Given the description of an element on the screen output the (x, y) to click on. 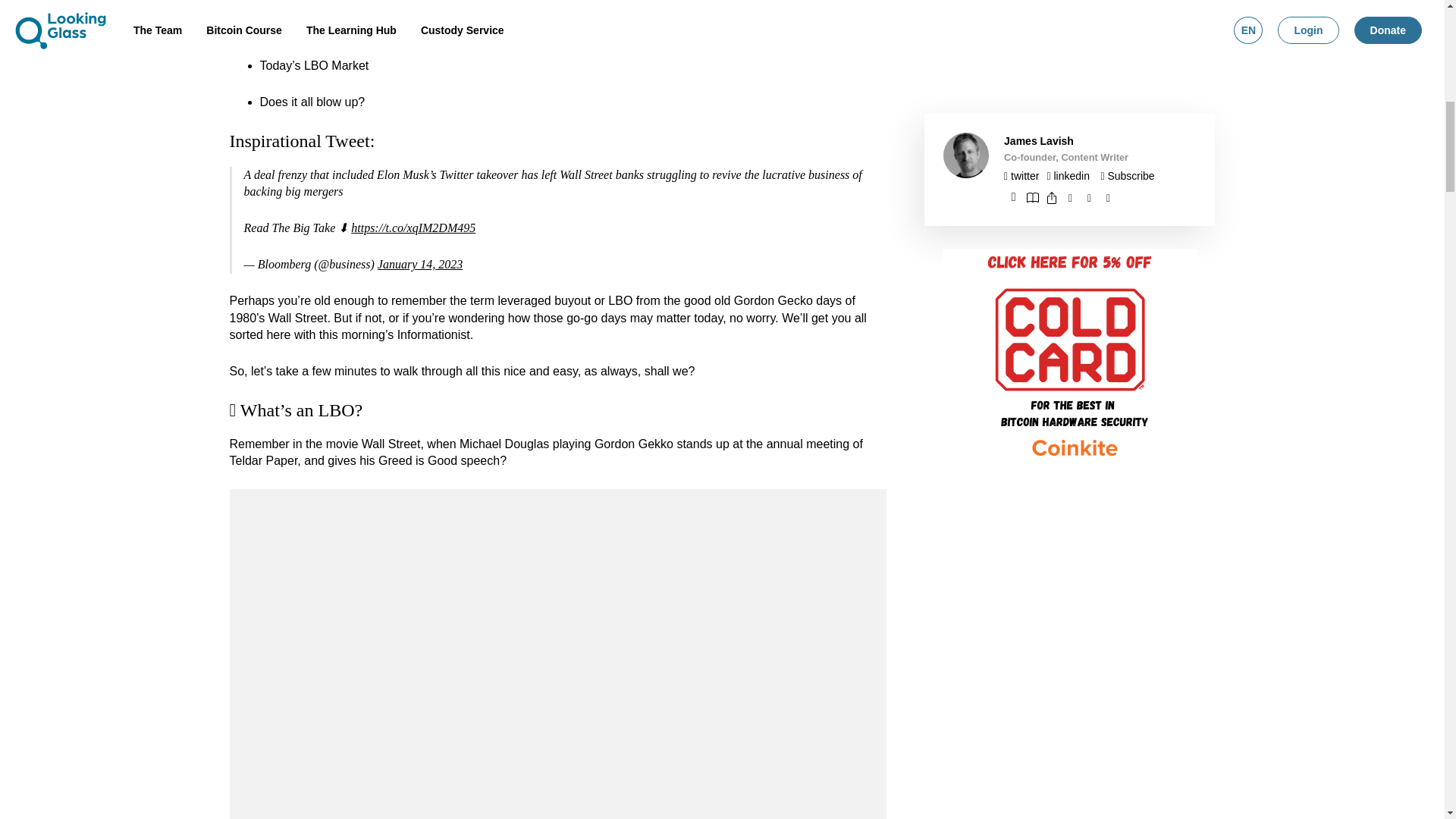
January 14, 2023 (420, 264)
